Given the description of an element on the screen output the (x, y) to click on. 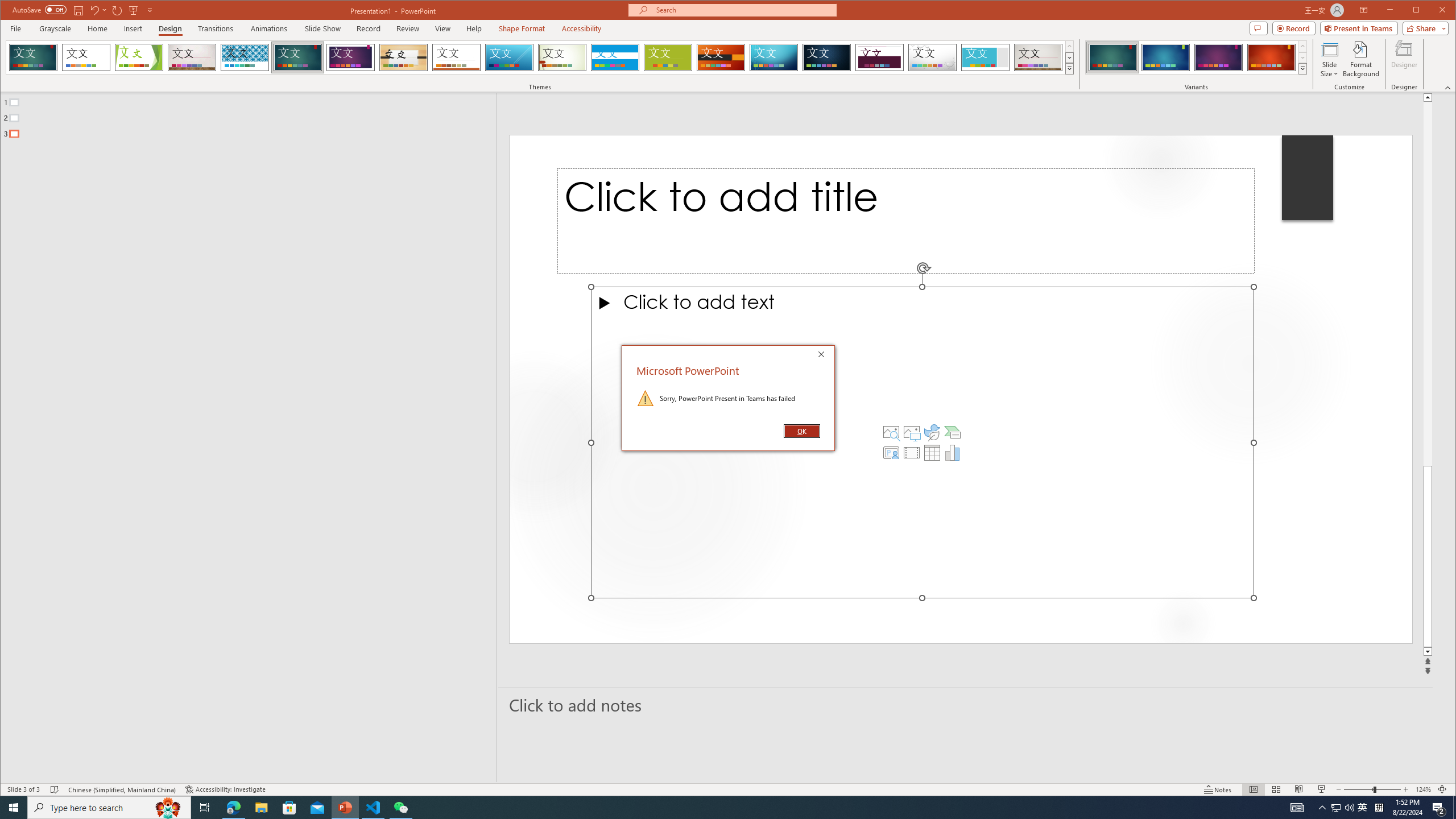
Ion (297, 57)
Droplet (932, 57)
Insert Table (931, 452)
Microsoft Edge - 1 running window (233, 807)
Facet (138, 57)
OK (801, 431)
Insert Video (911, 452)
